Given the description of an element on the screen output the (x, y) to click on. 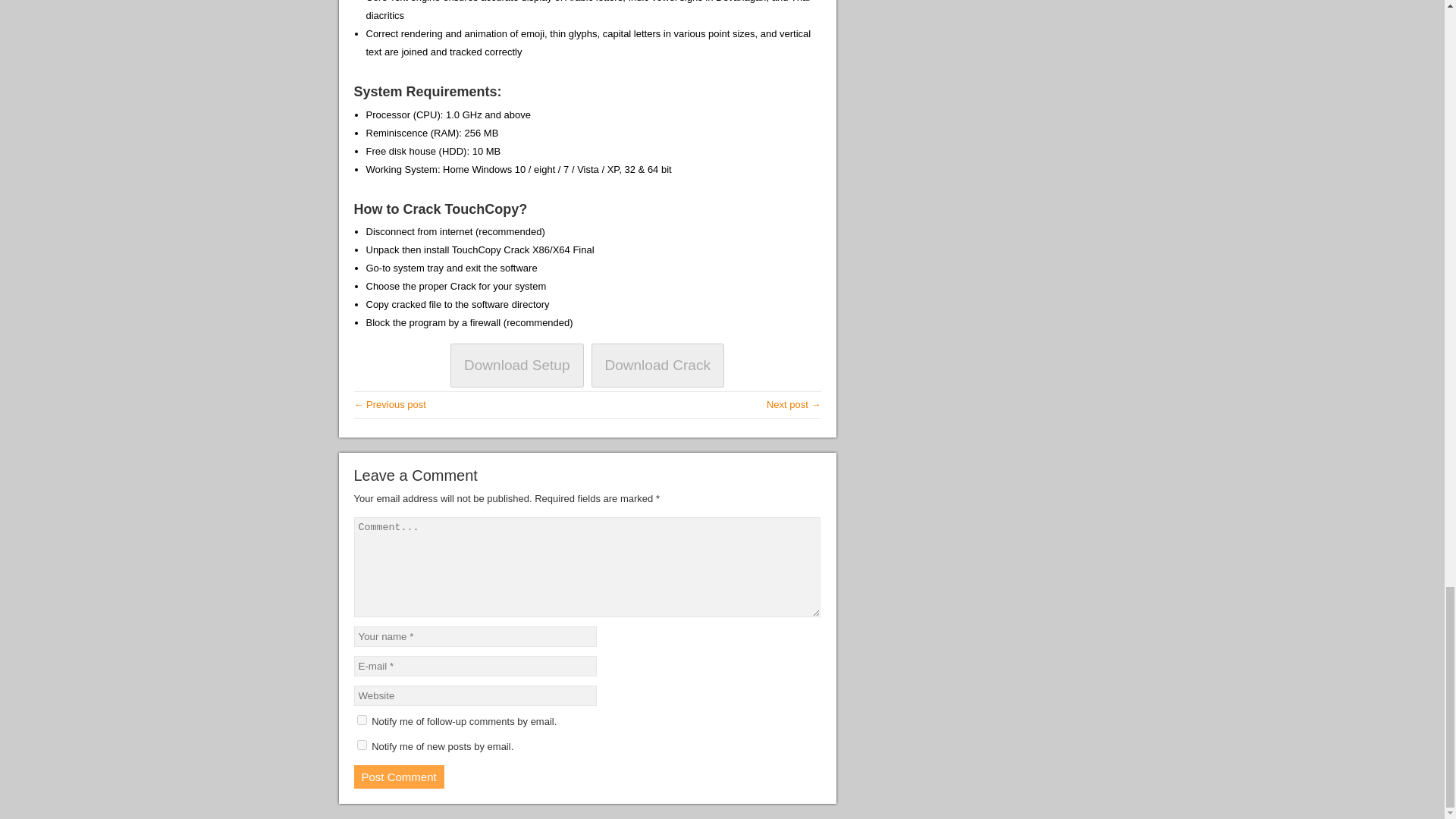
Download Setup (516, 365)
subscribe (361, 719)
Download Crack (657, 365)
SoftRAID 5.8.4 Crack Full Mac (389, 404)
Postbox 7.0.47 Crack Mac (794, 404)
Post Comment (398, 776)
Post Comment (398, 776)
Download SetupDownload Crack (586, 365)
subscribe (361, 745)
